Given the description of an element on the screen output the (x, y) to click on. 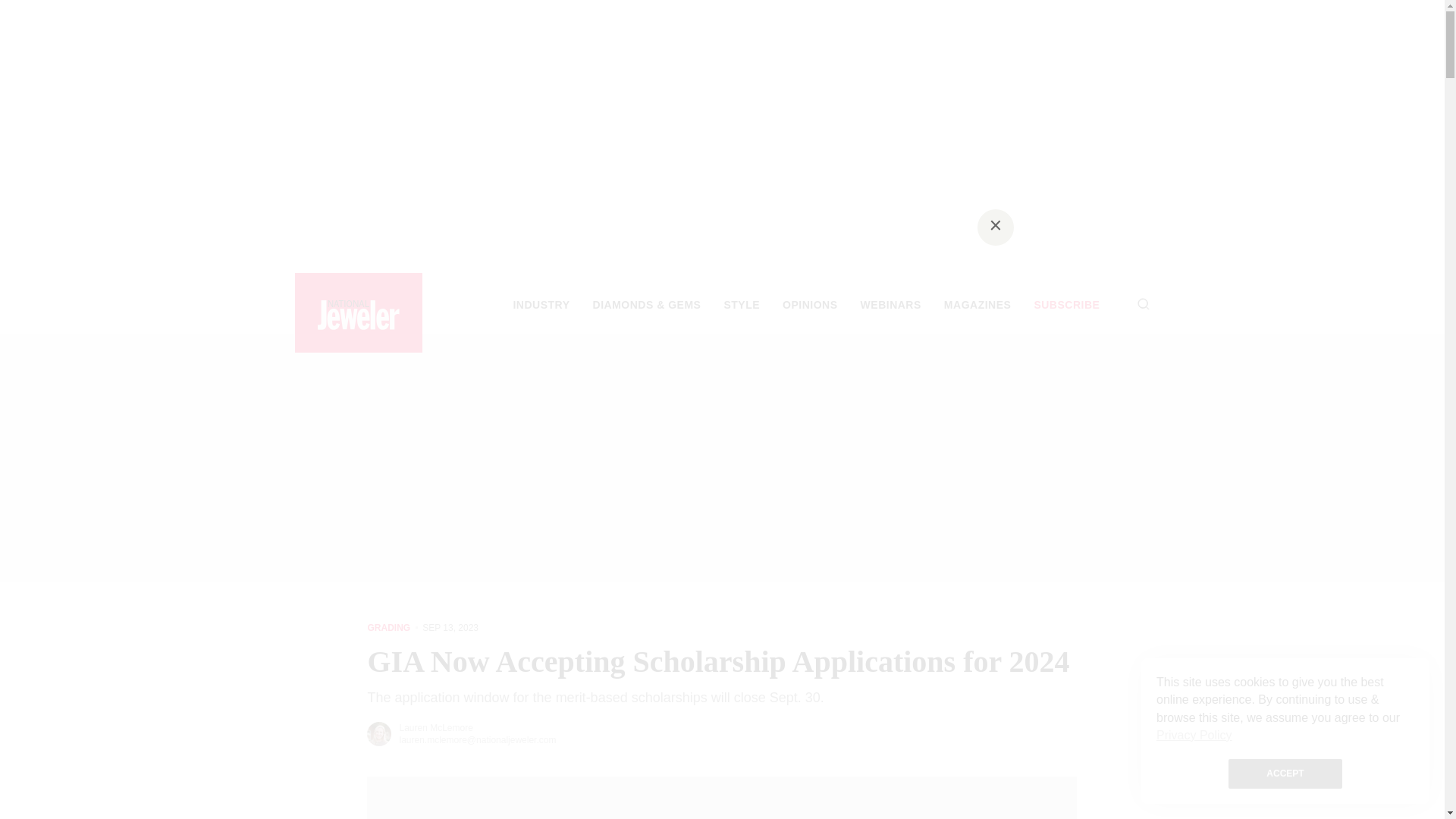
STYLE (741, 304)
MAGAZINES (977, 304)
SUBSCRIBE (1066, 304)
INDUSTRY (540, 304)
OPINIONS (810, 304)
WEBINARS (890, 304)
